Given the description of an element on the screen output the (x, y) to click on. 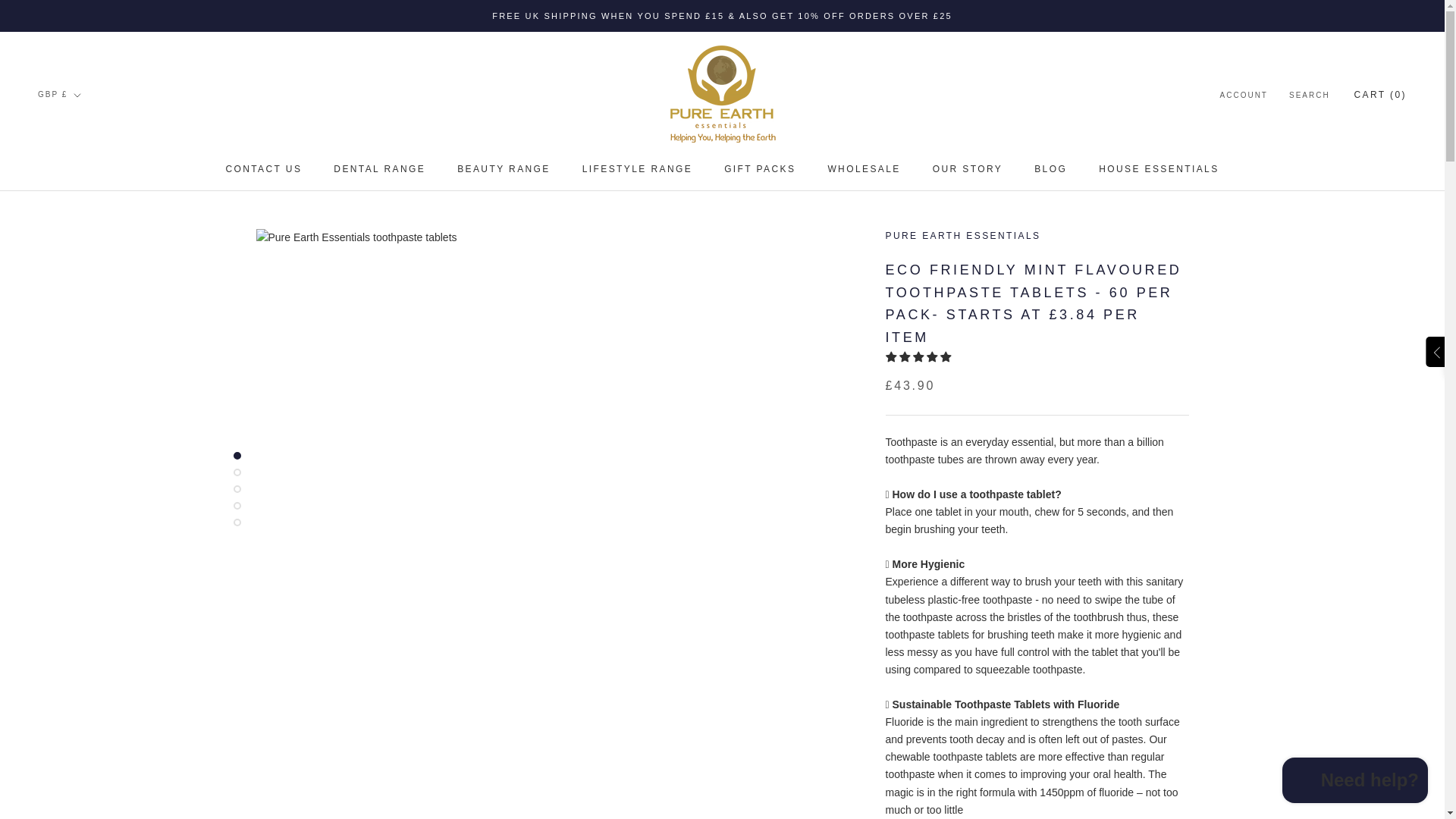
BGN (85, 347)
BDT (968, 168)
BAM (85, 327)
AWG (503, 168)
Shopify online store chat (637, 168)
AED (85, 287)
